Given the description of an element on the screen output the (x, y) to click on. 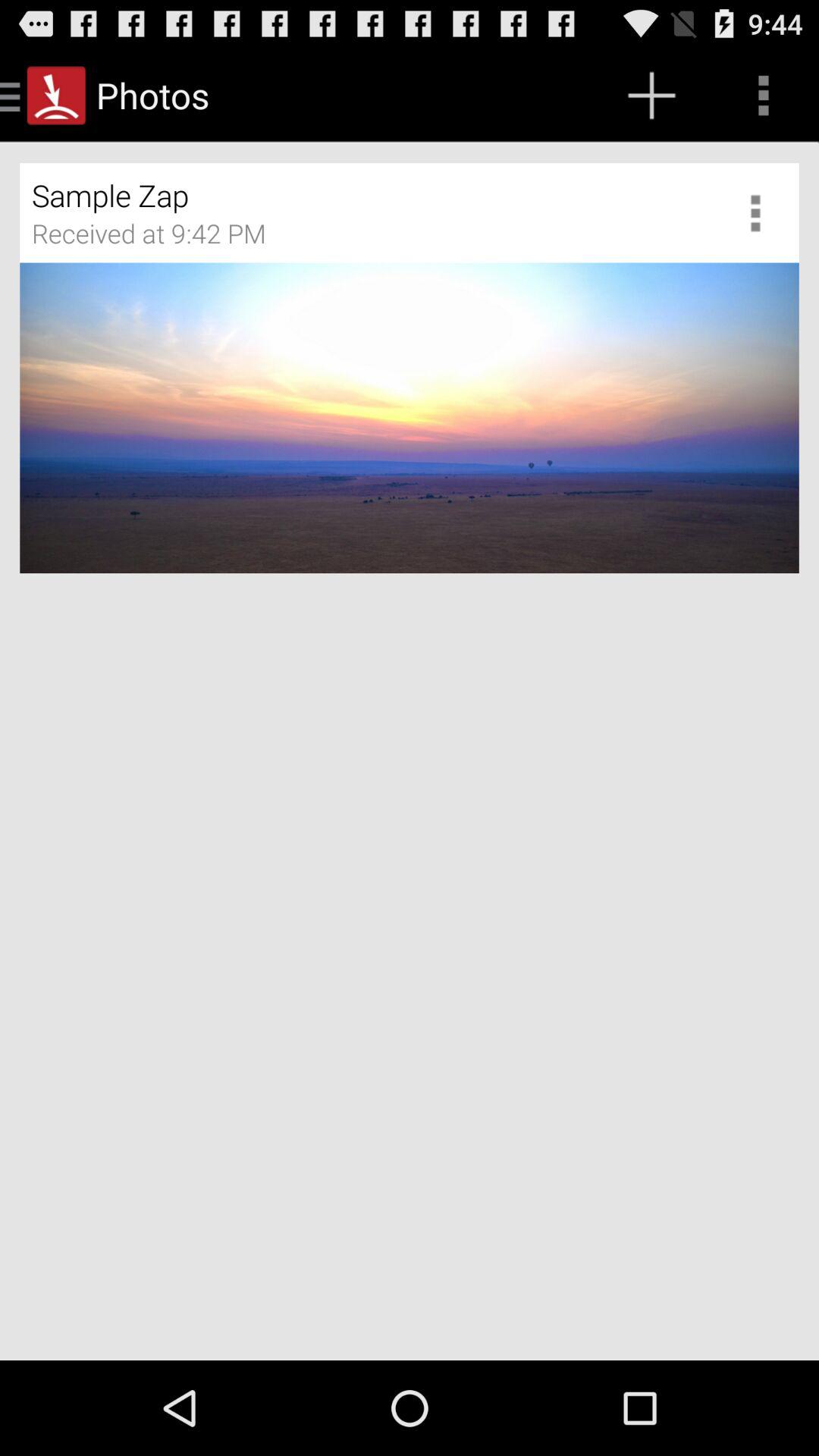
adjust photo settings (761, 212)
